Given the description of an element on the screen output the (x, y) to click on. 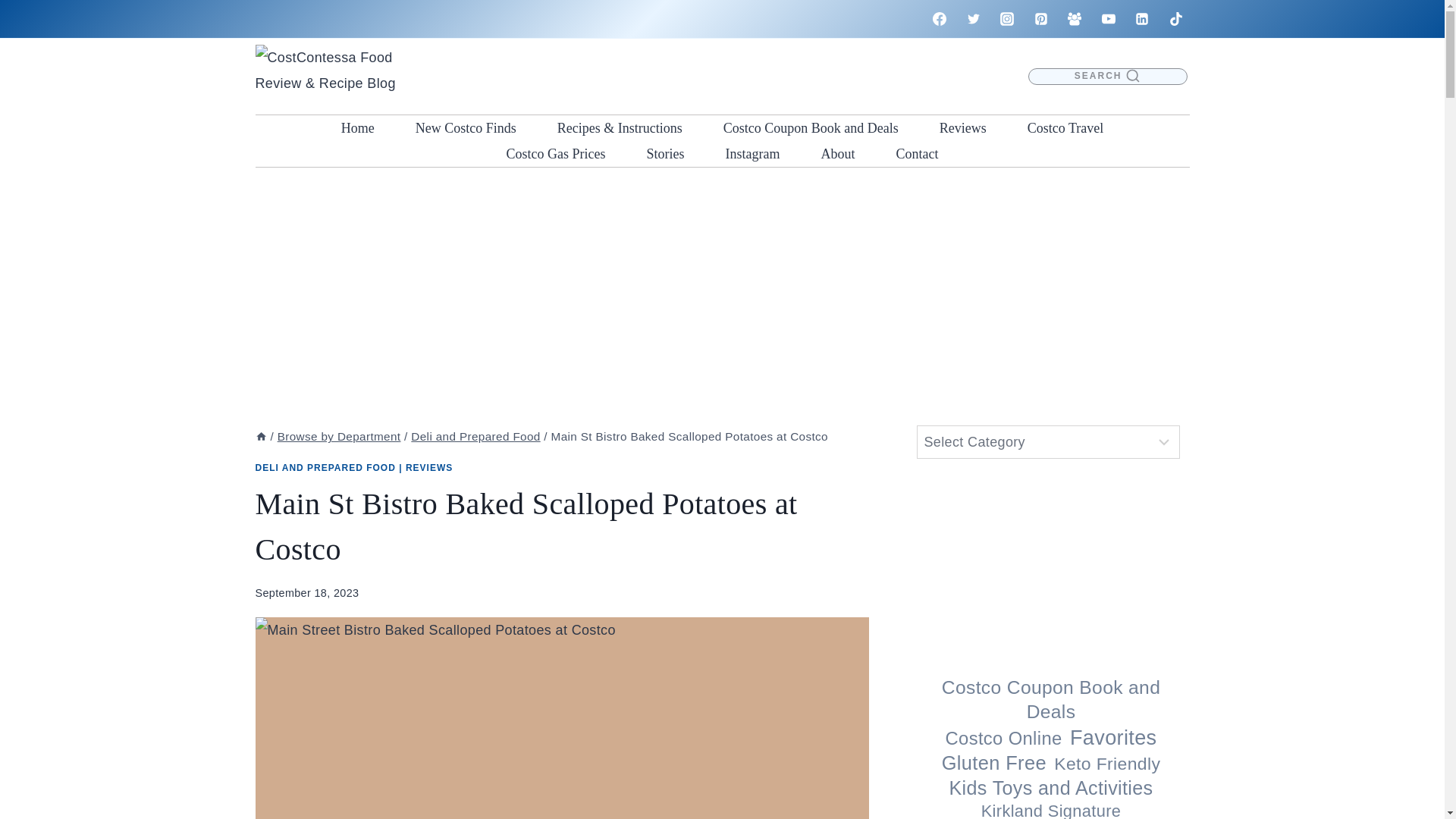
Deli and Prepared Food (475, 436)
Stories (665, 153)
Home (357, 127)
Contact (916, 153)
REVIEWS (429, 467)
Costco Coupon Book and Deals (810, 127)
About (837, 153)
New Costco Finds (465, 127)
SEARCH (1107, 76)
Browse by Department (339, 436)
